Given the description of an element on the screen output the (x, y) to click on. 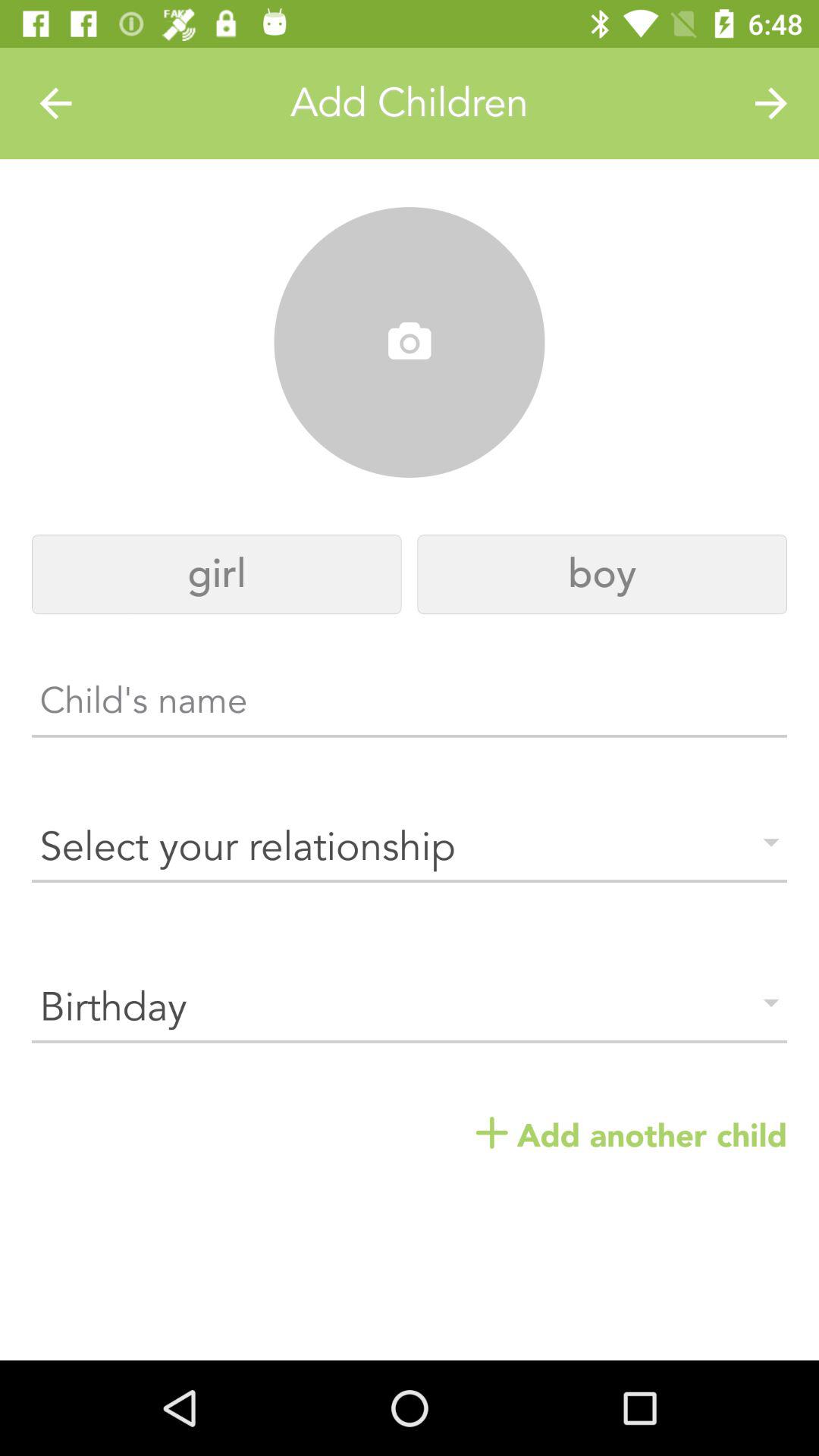
turn off the icon to the left of boy item (216, 574)
